Given the description of an element on the screen output the (x, y) to click on. 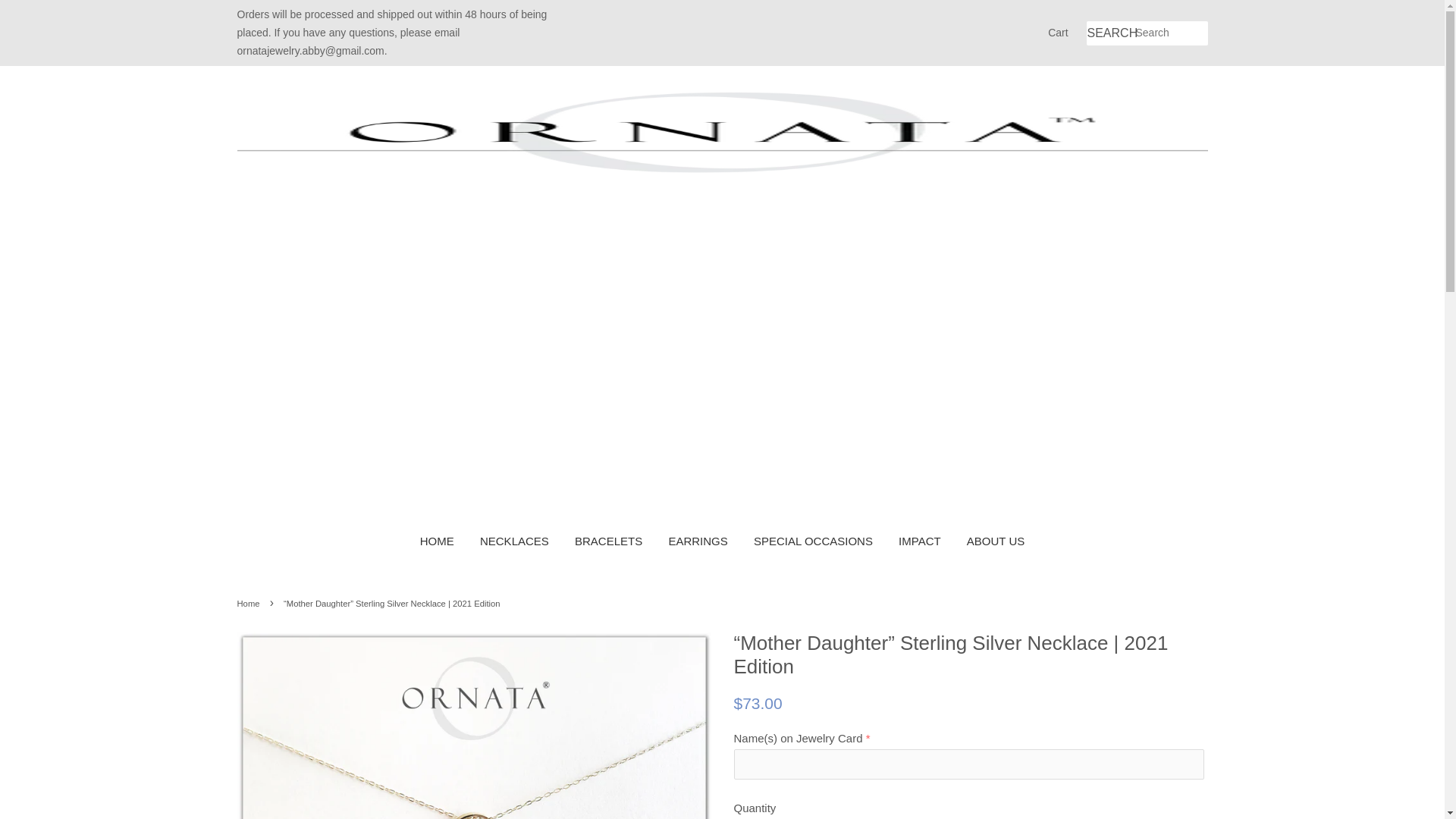
EARRINGS (697, 541)
Back to the frontpage (249, 603)
SEARCH (1110, 33)
BRACELETS (608, 541)
NECKLACES (514, 541)
HOME (442, 541)
Cart (1057, 33)
